Given the description of an element on the screen output the (x, y) to click on. 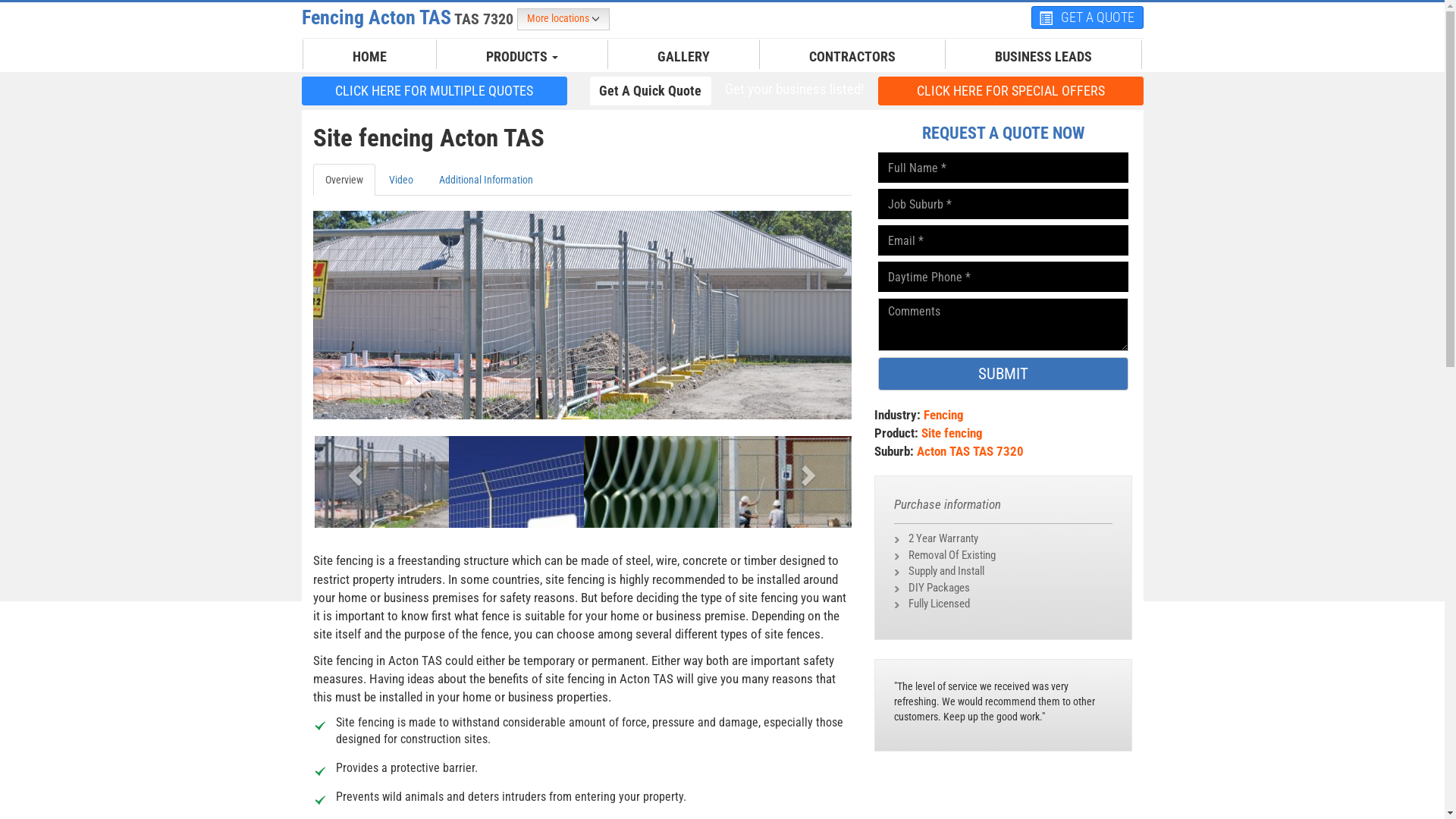
CONTRACTORS Element type: text (851, 56)
CLICK HERE FOR MULTIPLE QUOTES Element type: text (434, 90)
Additional Information Element type: text (485, 179)
GET A QUOTE Element type: text (1087, 17)
Overview Element type: text (343, 179)
HOME Element type: text (369, 56)
CLICK HERE FOR SPECIAL OFFERS Element type: text (1010, 90)
BUSINESS LEADS Element type: text (1042, 56)
Get A Quick Quote Element type: text (650, 90)
Video Element type: text (400, 179)
Fencing Acton TAS TAS 7320 Element type: text (409, 17)
Get A Quick Quote Element type: text (650, 90)
CLICK HERE FOR MULTIPLE QUOTES Element type: text (434, 90)
prev Element type: hover (352, 470)
GALLERY Element type: text (683, 56)
More locations Element type: text (563, 19)
CLICK HERE FOR SPECIAL OFFERS Element type: text (1010, 90)
Get your business listed! Element type: text (793, 89)
PRODUCTS Element type: text (521, 56)
SUBMIT Element type: text (1003, 373)
